Given the description of an element on the screen output the (x, y) to click on. 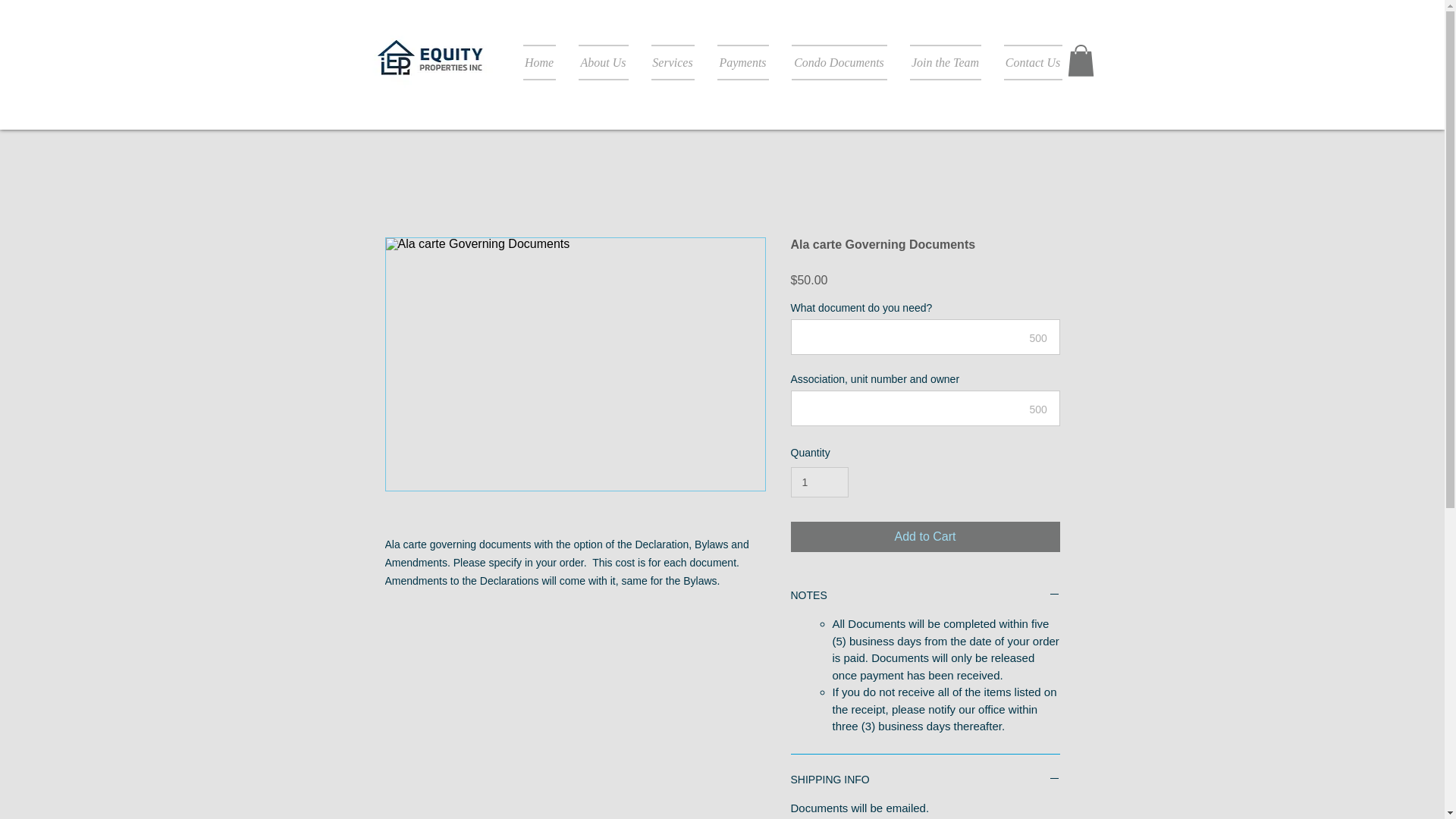
Services (673, 62)
1 (818, 481)
About Us (603, 62)
Add to Cart (924, 536)
Payments (741, 62)
NOTES (924, 595)
SHIPPING INFO (924, 780)
Condo Documents (838, 62)
Join the Team (944, 62)
Contact Us (1026, 62)
